Given the description of an element on the screen output the (x, y) to click on. 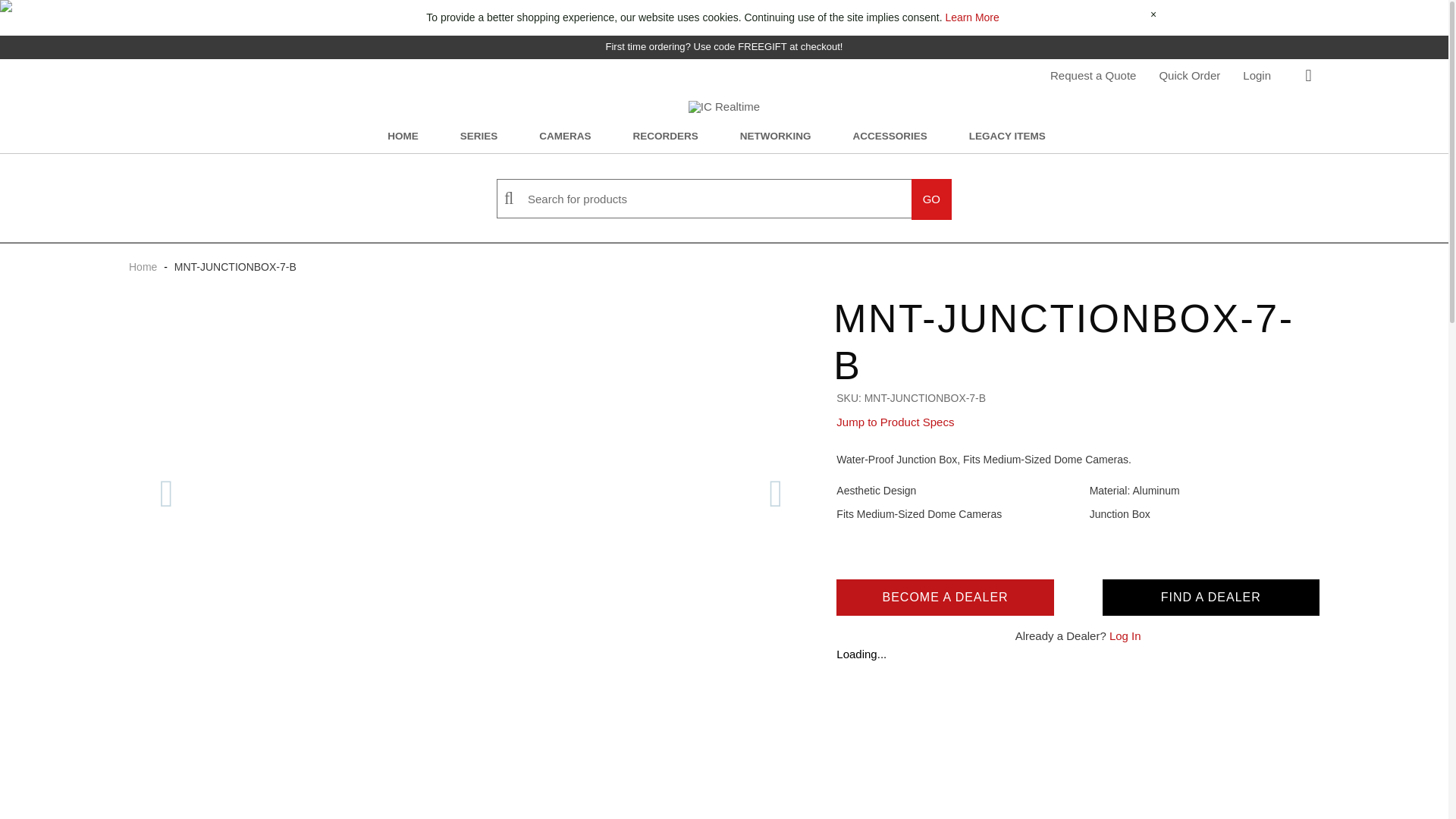
RECORDERS (664, 136)
Request a Quote (1093, 75)
Request a Quote (1093, 75)
Learn More (971, 17)
IC Realtime (724, 106)
SERIES (478, 136)
Cart (1307, 75)
CAMERAS (564, 136)
HOME (403, 136)
Quick Order (1189, 75)
Login (1256, 75)
NETWORKING (775, 136)
Quick Order (1189, 75)
